Given the description of an element on the screen output the (x, y) to click on. 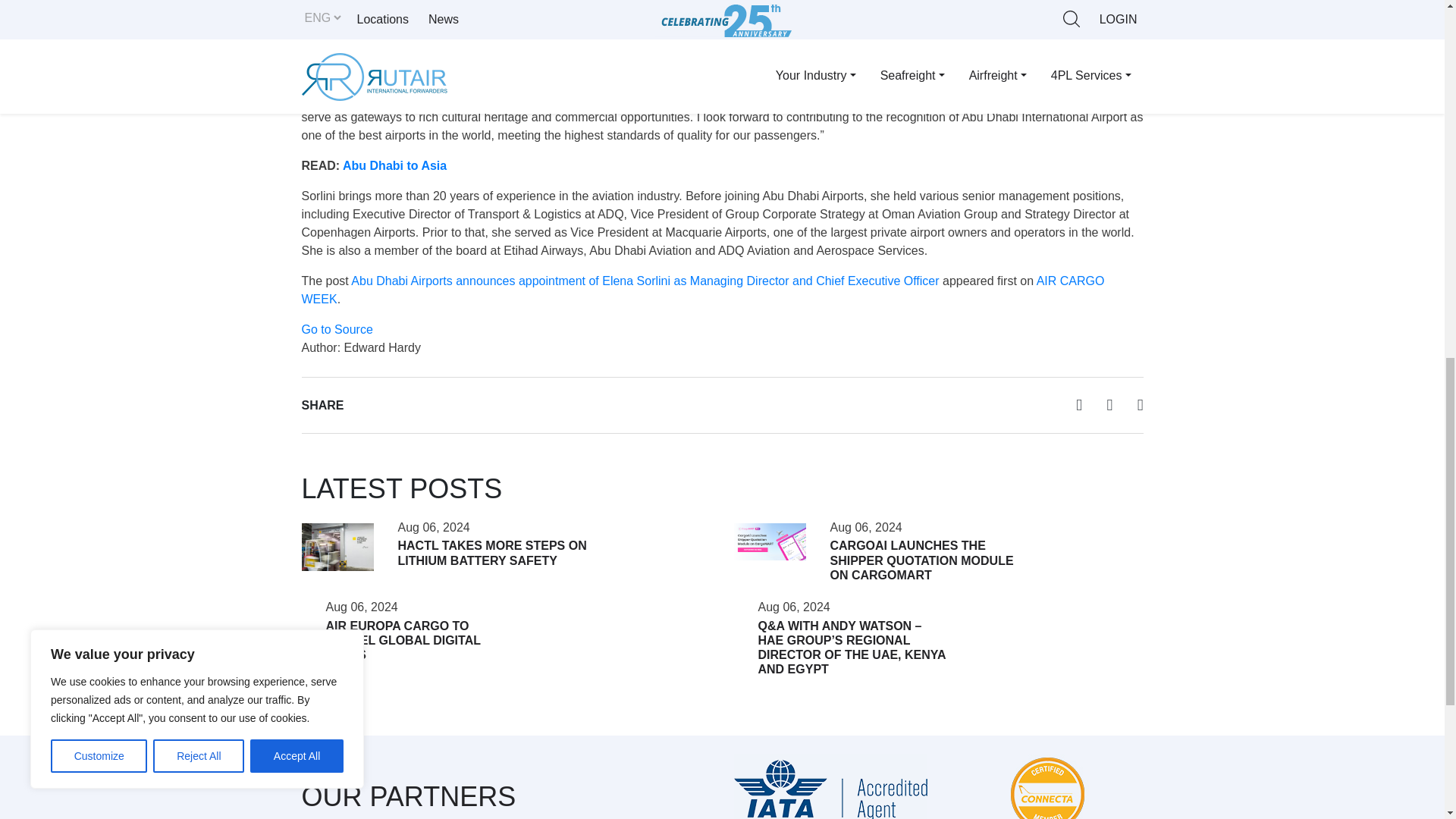
Abu Dhabi to Asia (394, 164)
